Given the description of an element on the screen output the (x, y) to click on. 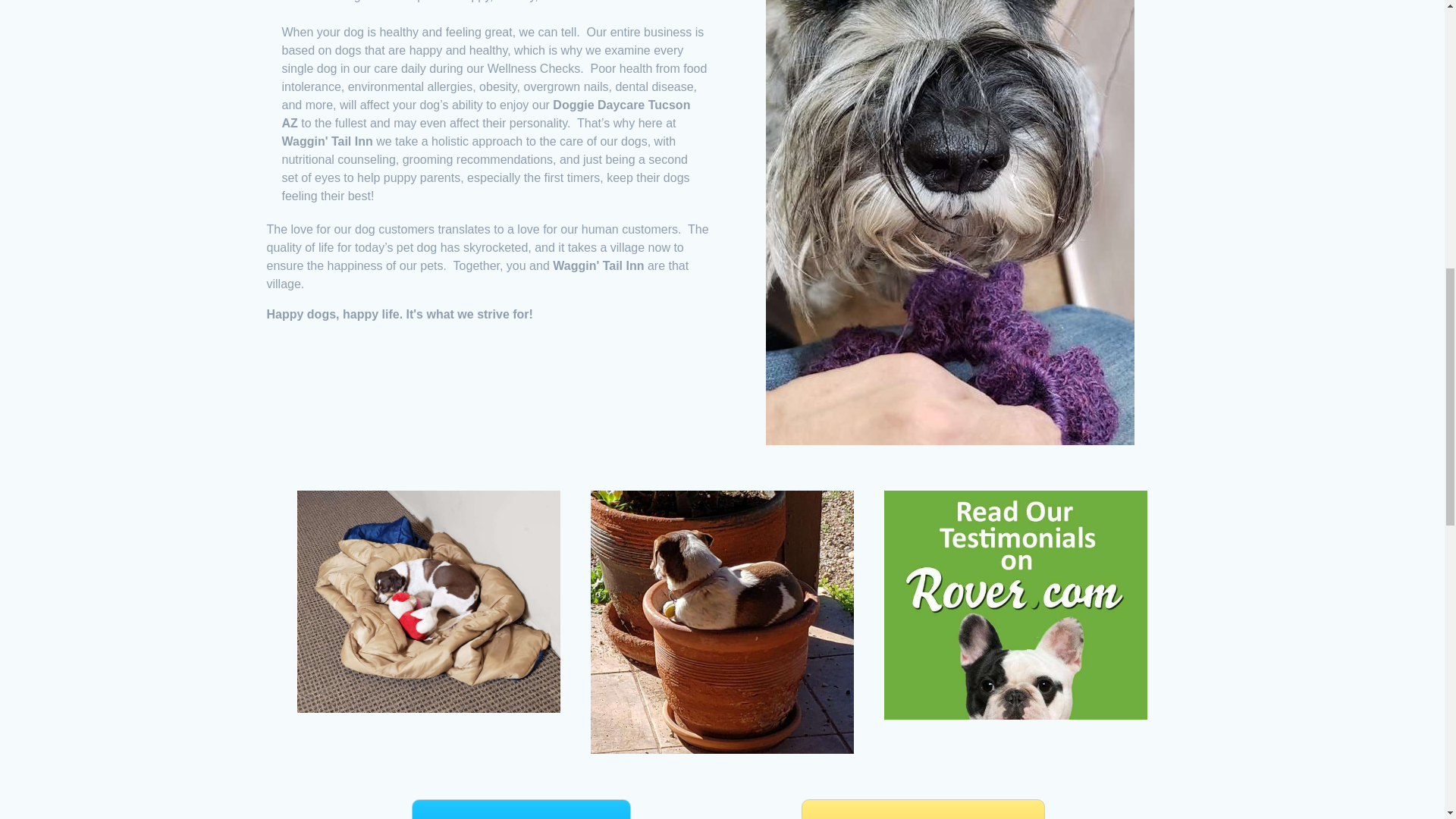
Rover1 copy (1015, 604)
Read Our Testimonials (923, 809)
Doggie Daycare Tucson AZ (722, 621)
Doggie Daycare Tucson AZ 1 (428, 601)
Leave a Testimonial (521, 809)
